Given the description of an element on the screen output the (x, y) to click on. 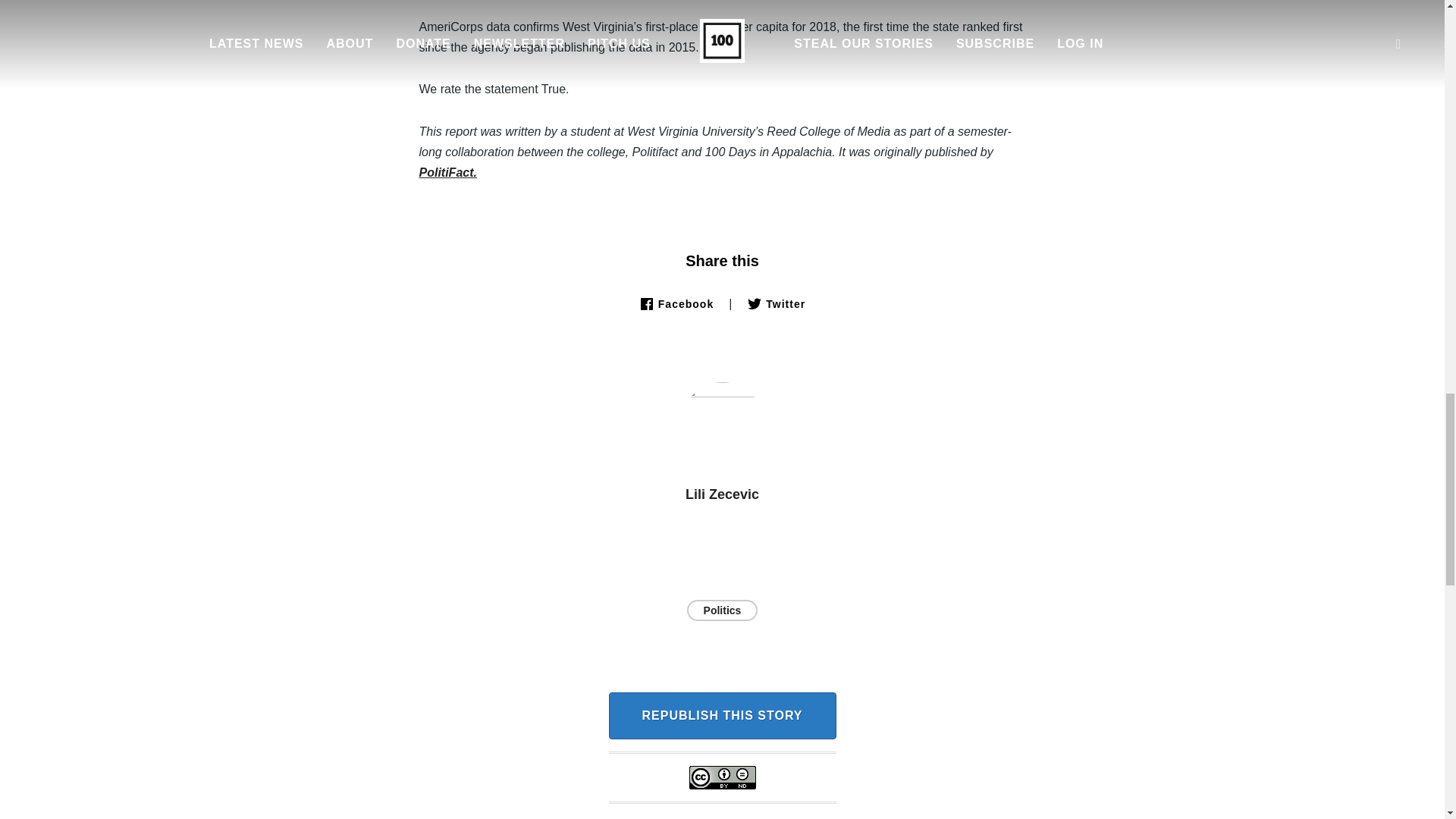
Share this on Facebook (676, 304)
Lili Zecevic (721, 494)
PolitiFact. (447, 172)
Tweet this on Twitter (775, 304)
REPUBLISH THIS STORY (721, 715)
Politics (722, 609)
Facebook (676, 304)
Twitter (775, 304)
Posts by Lili Zecevic (721, 494)
